Given the description of an element on the screen output the (x, y) to click on. 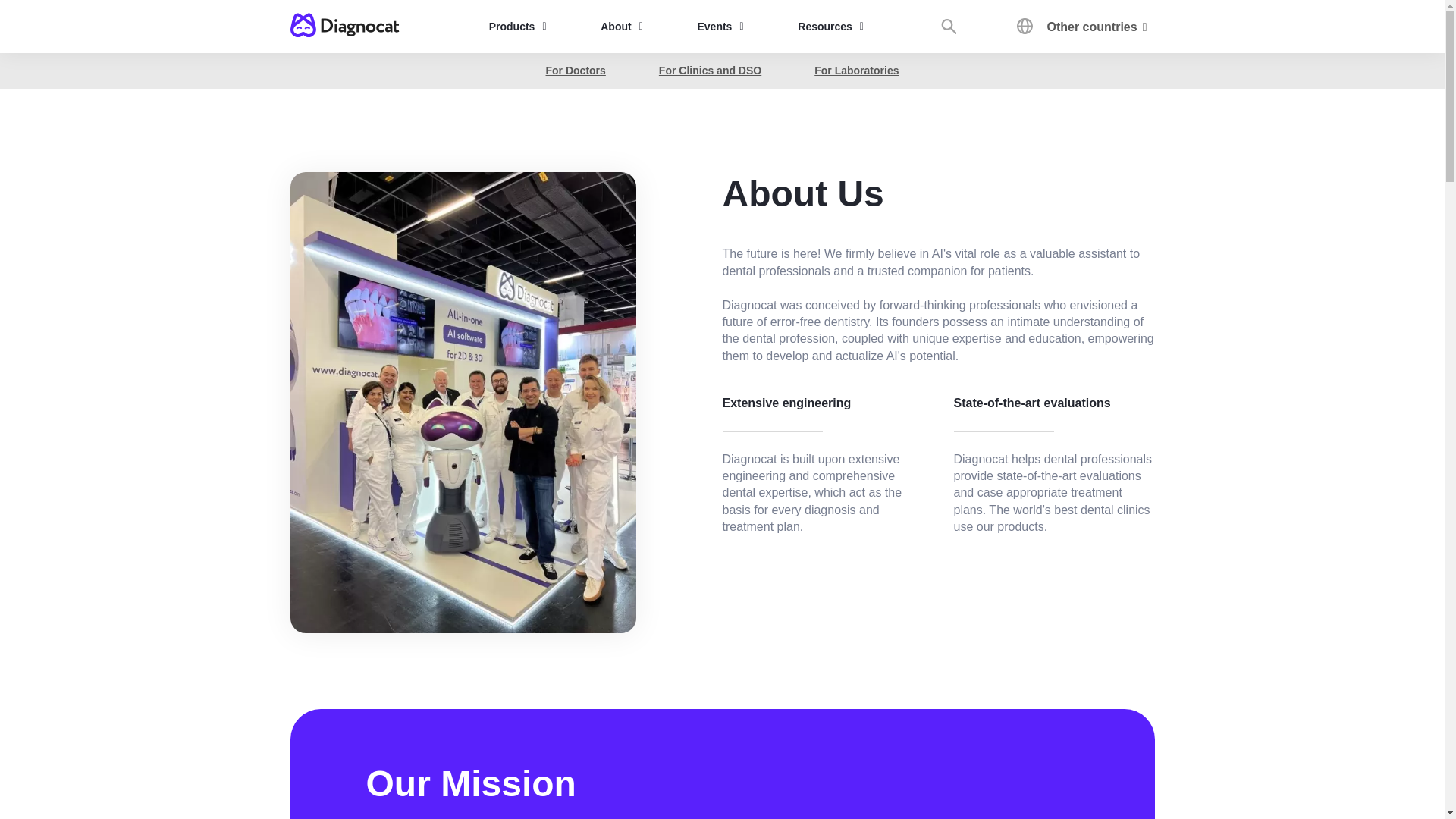
Resources (830, 26)
Other countries (1092, 26)
Events (720, 26)
Products (517, 26)
About (621, 26)
